Given the description of an element on the screen output the (x, y) to click on. 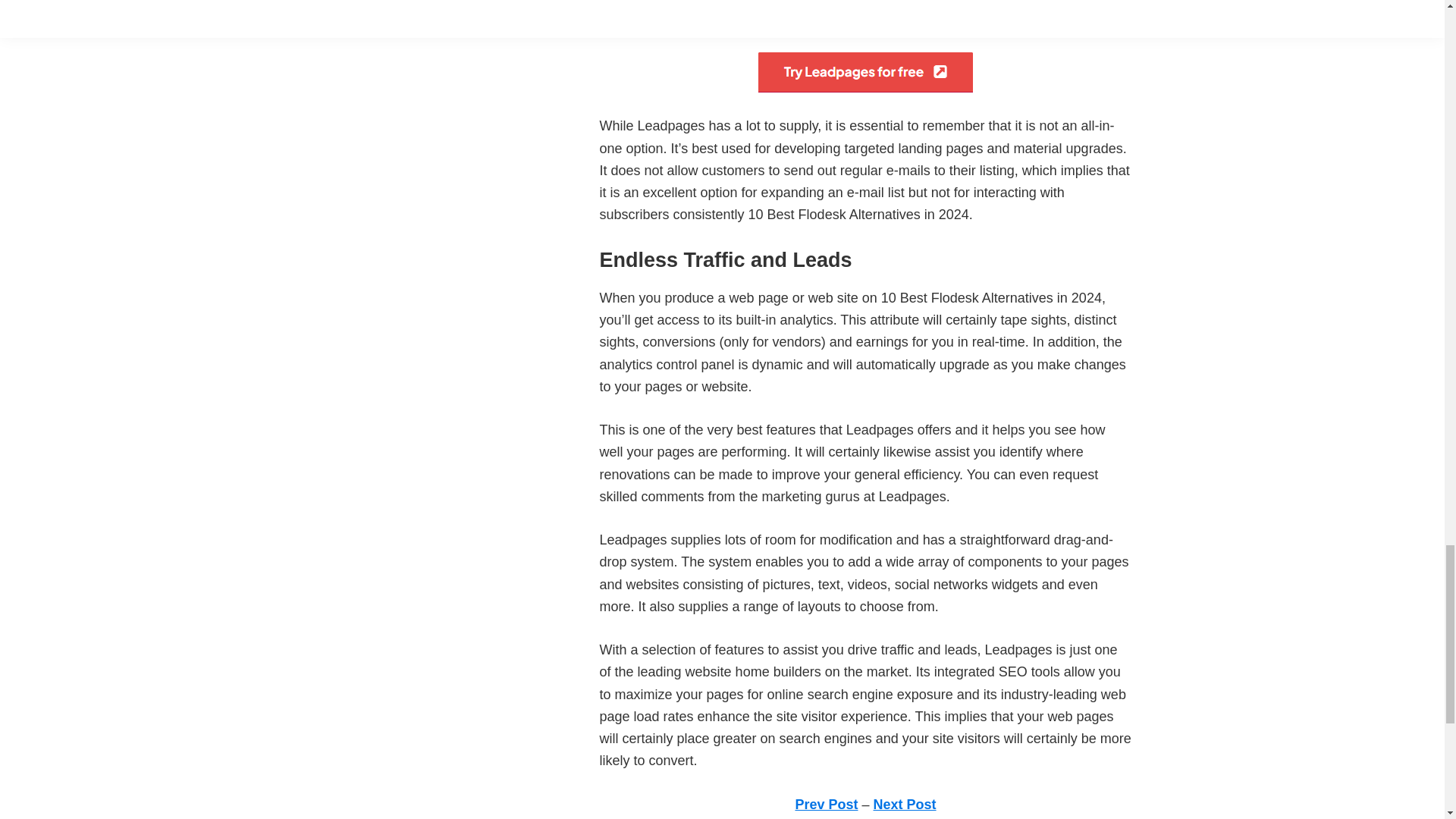
Prev Post (825, 804)
Next Post (904, 804)
